Given the description of an element on the screen output the (x, y) to click on. 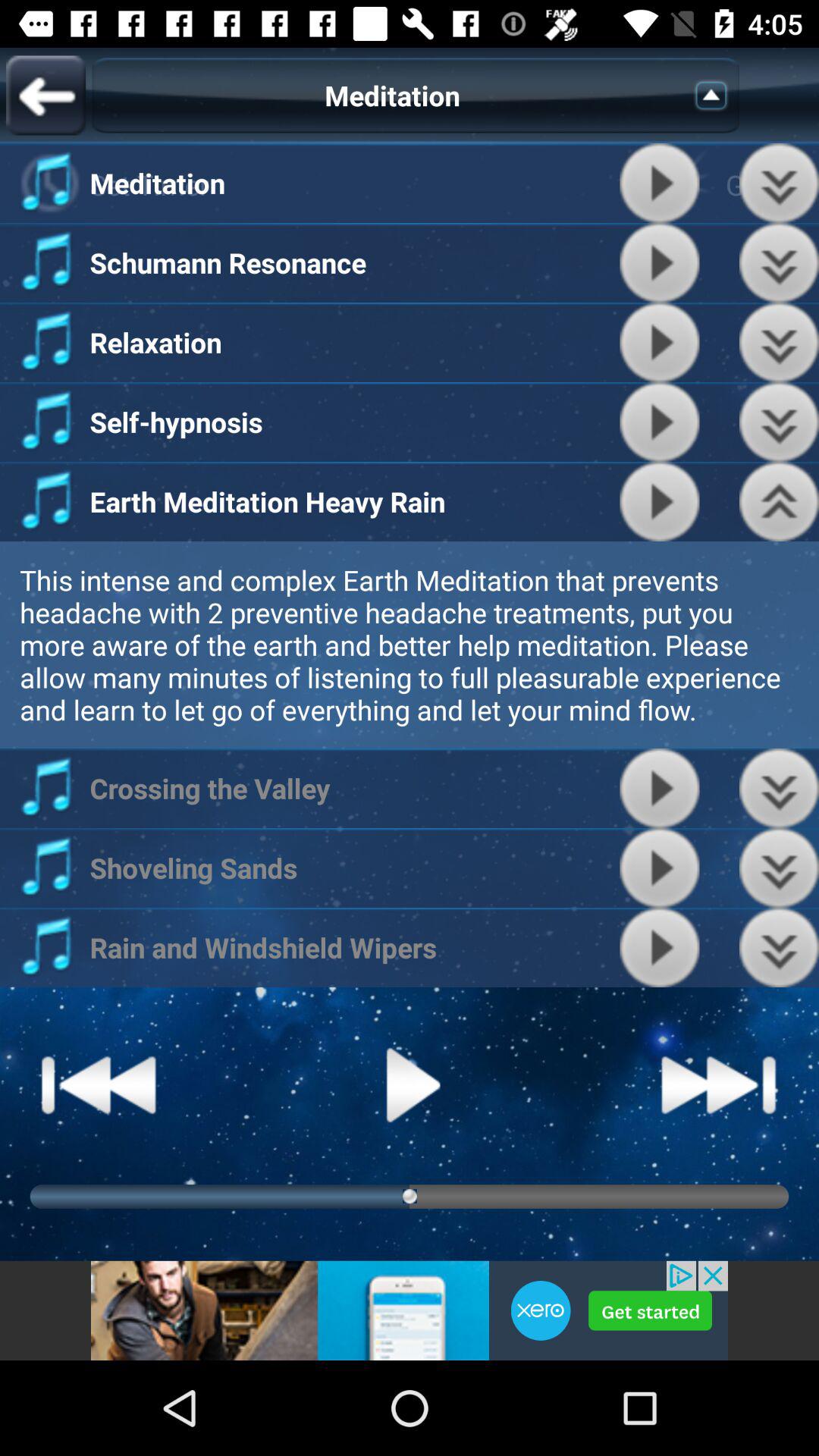
select the addvertisement (409, 1310)
